Given the description of an element on the screen output the (x, y) to click on. 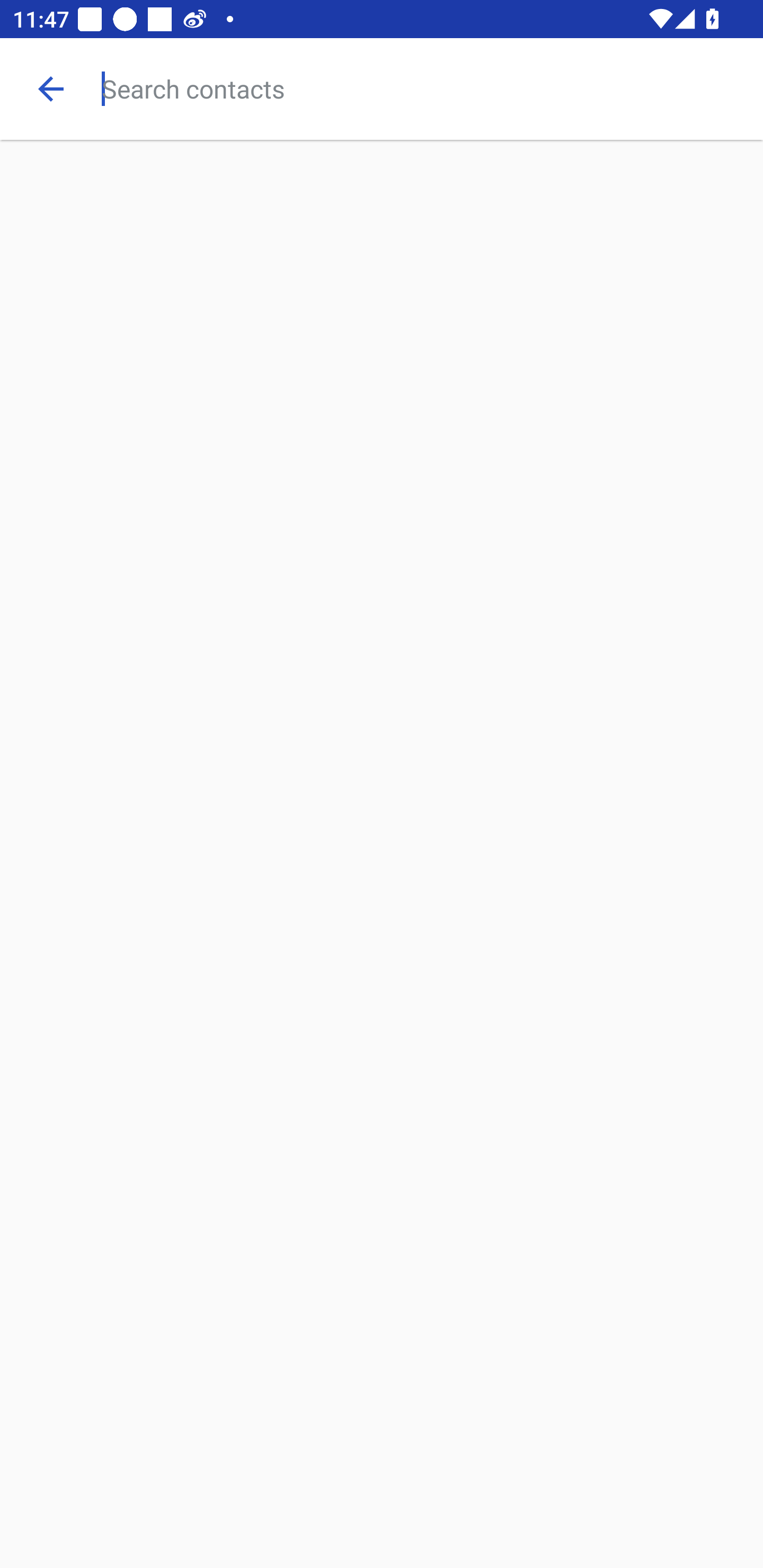
stop searching (50, 88)
Search contacts (432, 88)
